Given the description of an element on the screen output the (x, y) to click on. 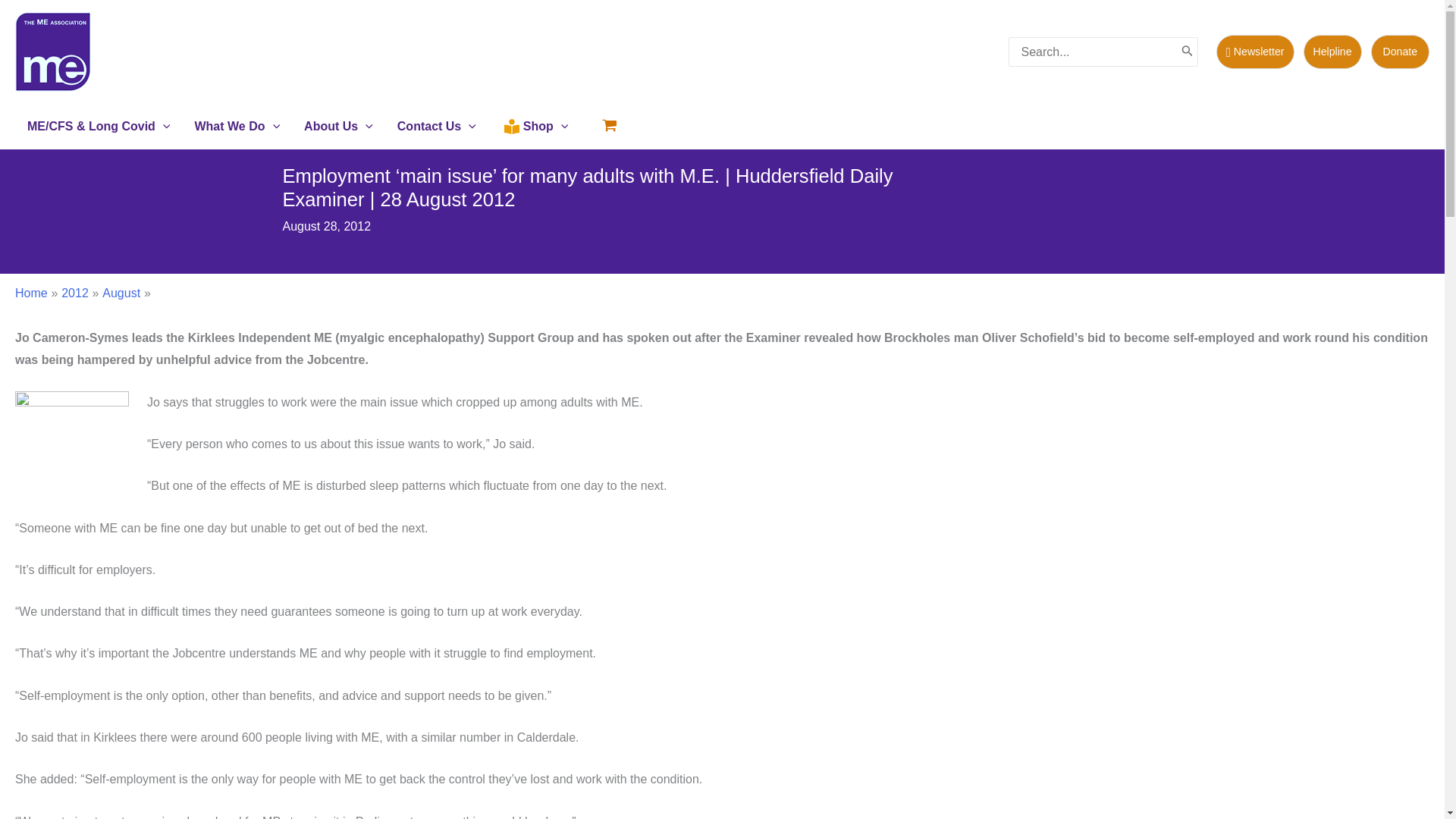
Donate (1400, 51)
Helpline (1337, 51)
Donate (1400, 51)
What We Do (237, 126)
Newsletter (1259, 51)
Newsletter (1254, 51)
Jo Cameron-Symes lo res (71, 448)
Helpline (1332, 51)
